Given the description of an element on the screen output the (x, y) to click on. 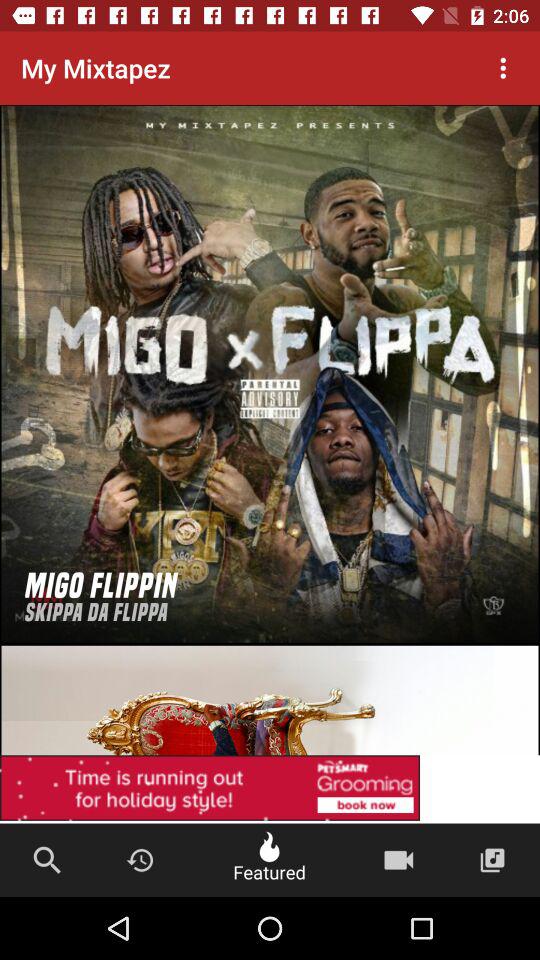
open advertisement (270, 789)
